Given the description of an element on the screen output the (x, y) to click on. 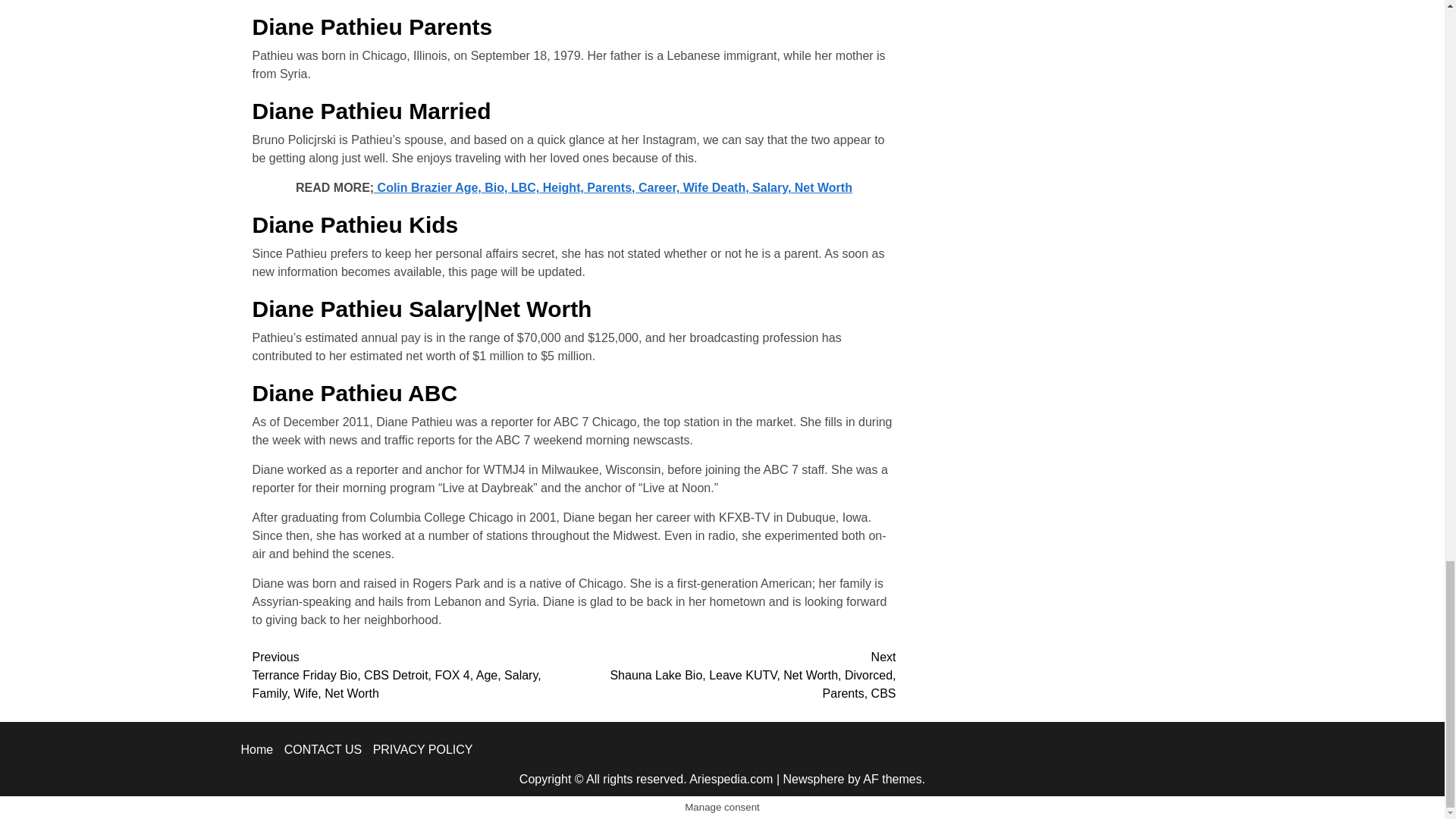
CONTACT US (322, 748)
Newsphere (813, 779)
PRIVACY POLICY (422, 748)
Home (257, 748)
